Given the description of an element on the screen output the (x, y) to click on. 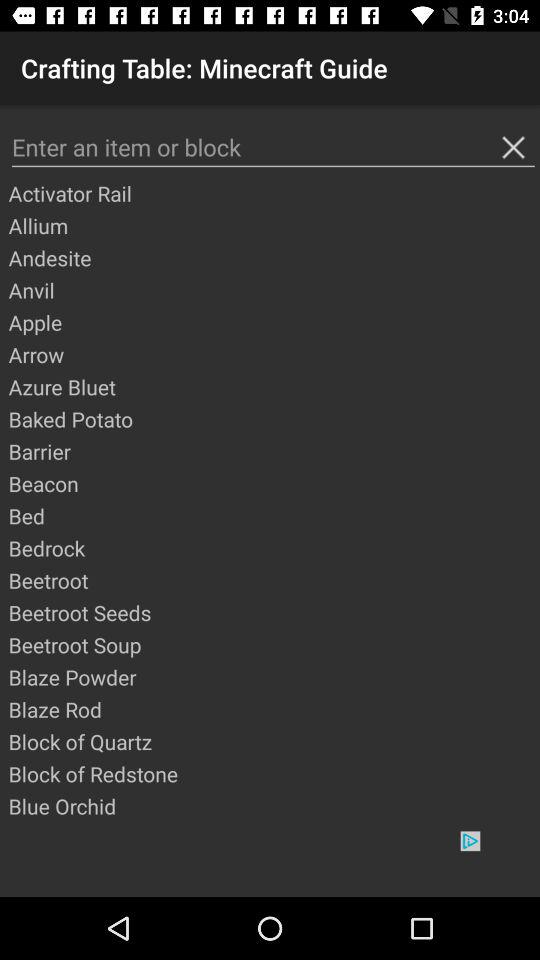
search an item or block (273, 147)
